Given the description of an element on the screen output the (x, y) to click on. 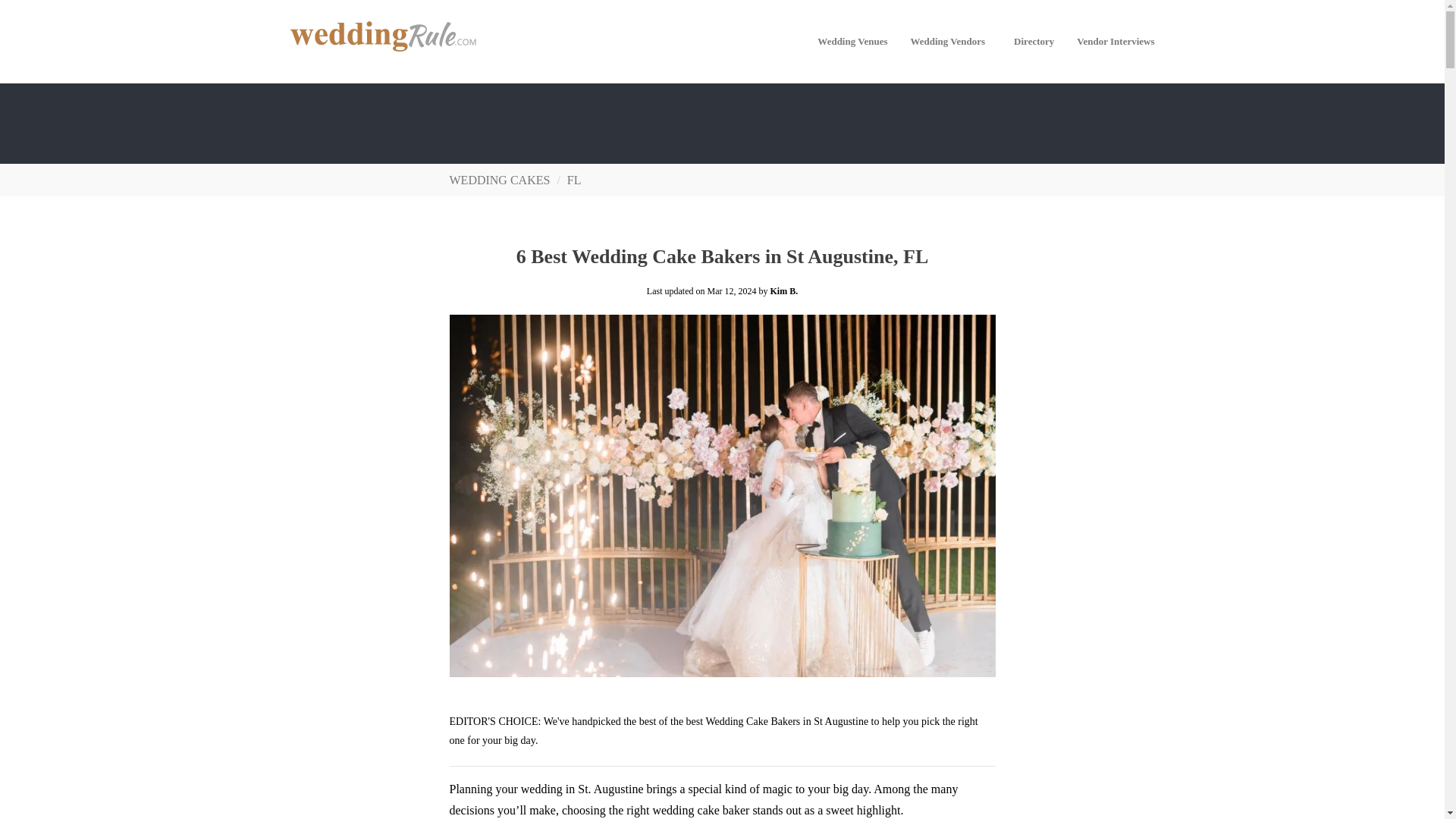
Vendor Interviews (1115, 41)
WEDDING CAKES (499, 179)
FL (573, 179)
Wedding Venues (851, 41)
Wedding Vendors (950, 41)
Kim B. (783, 290)
